Given the description of an element on the screen output the (x, y) to click on. 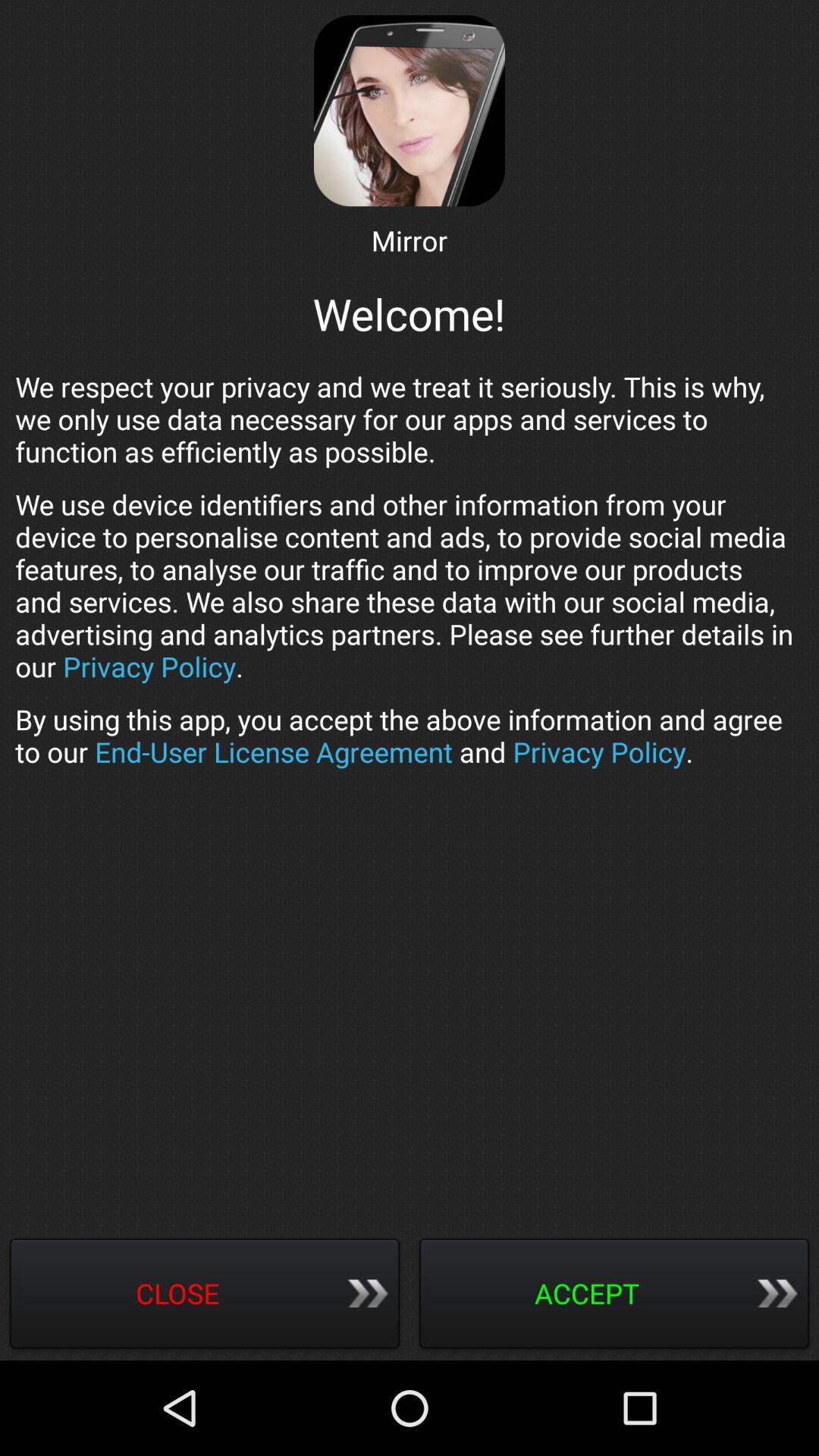
click close (204, 1295)
